Given the description of an element on the screen output the (x, y) to click on. 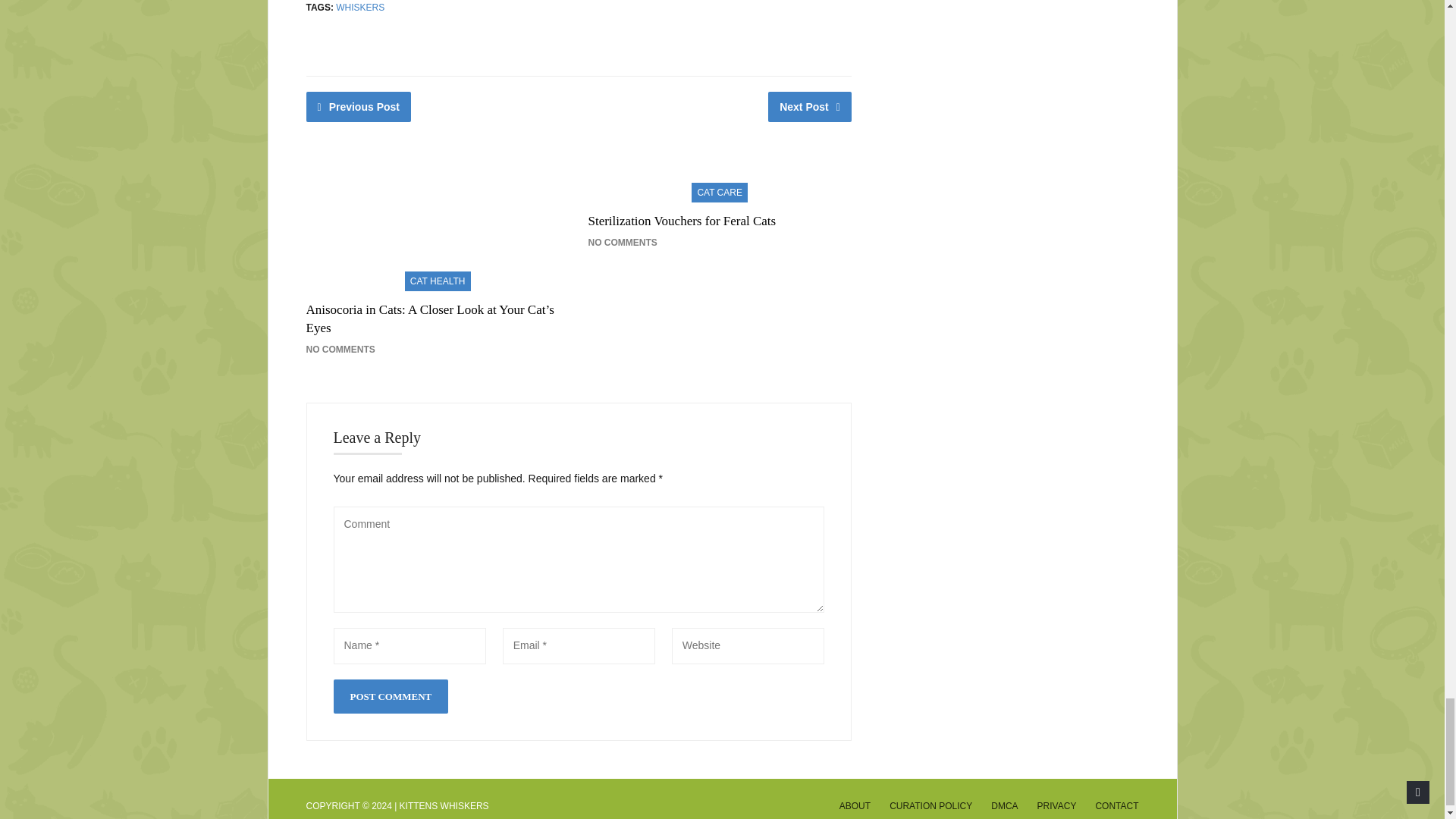
NO COMMENTS (622, 242)
Post Comment (390, 696)
Next Post (809, 106)
Sterilization Vouchers for Feral Cats (682, 220)
Previous Post (358, 106)
NO COMMENTS (340, 348)
CAT HEALTH (437, 279)
Post Comment (390, 696)
CAT CARE (719, 190)
WHISKERS (360, 7)
